Given the description of an element on the screen output the (x, y) to click on. 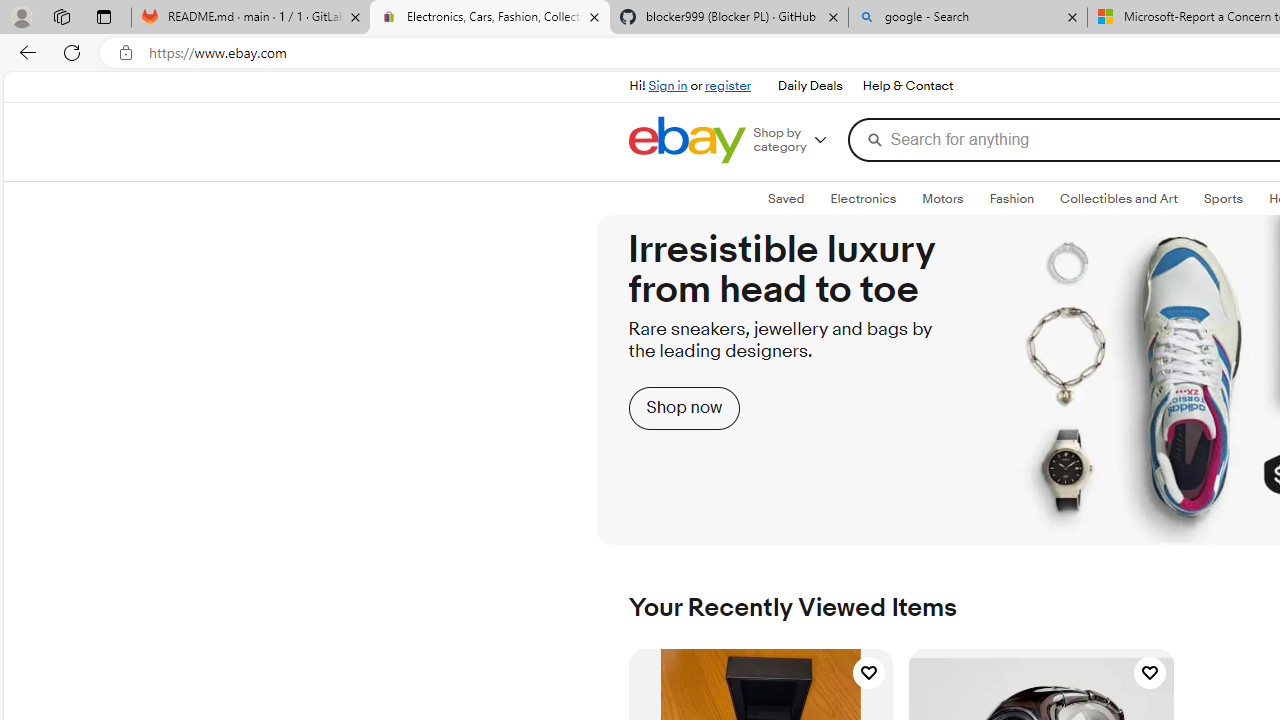
Help & Contact (907, 86)
Saved (786, 199)
FashionExpand: Fashion (1011, 199)
